Given the description of an element on the screen output the (x, y) to click on. 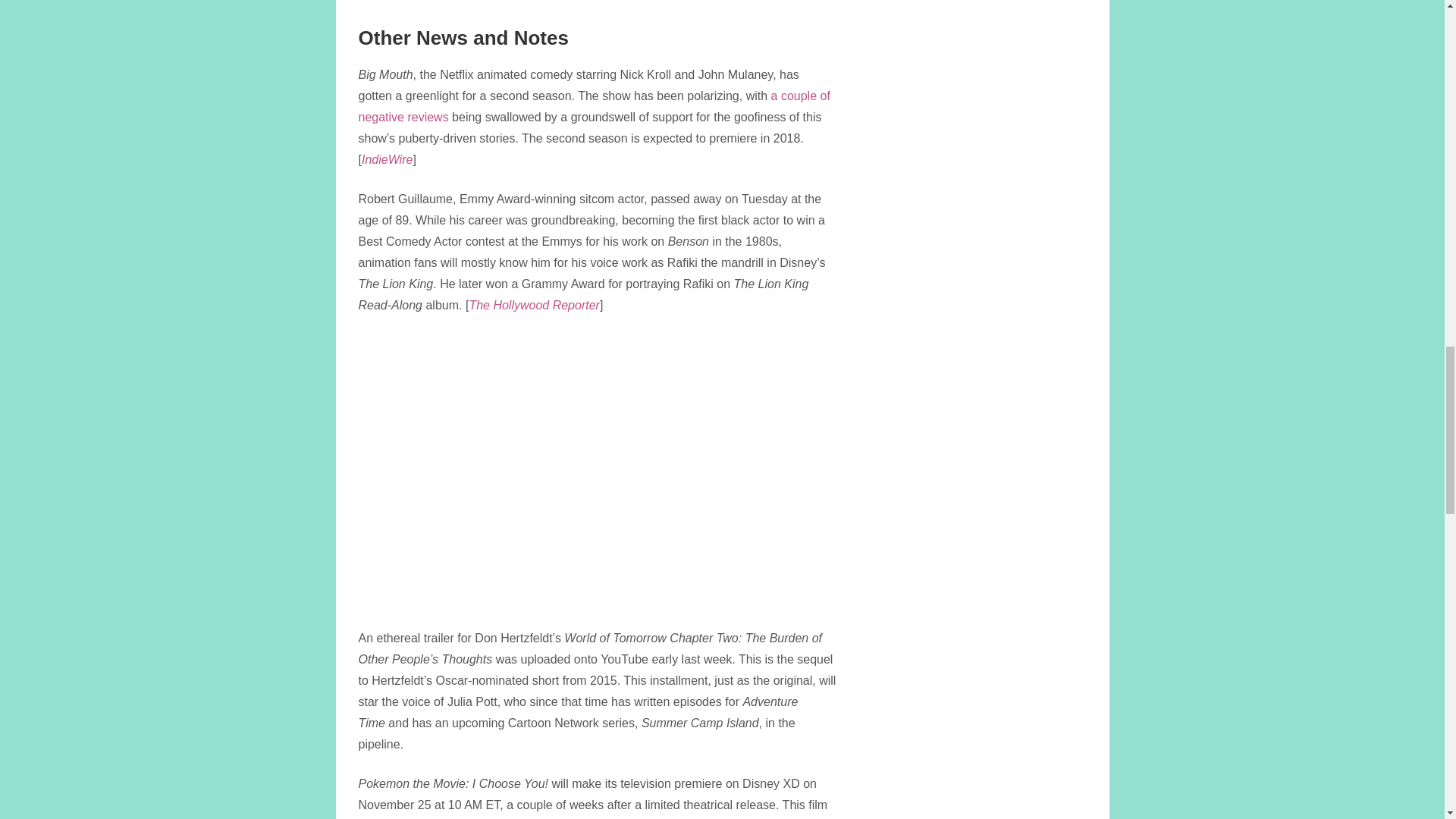
a couple of negative reviews (593, 106)
The Hollywood Reporter (533, 305)
WORLD OF TOMORROW EPISODE TWO - trailer (596, 468)
IndieWire (386, 159)
